Given the description of an element on the screen output the (x, y) to click on. 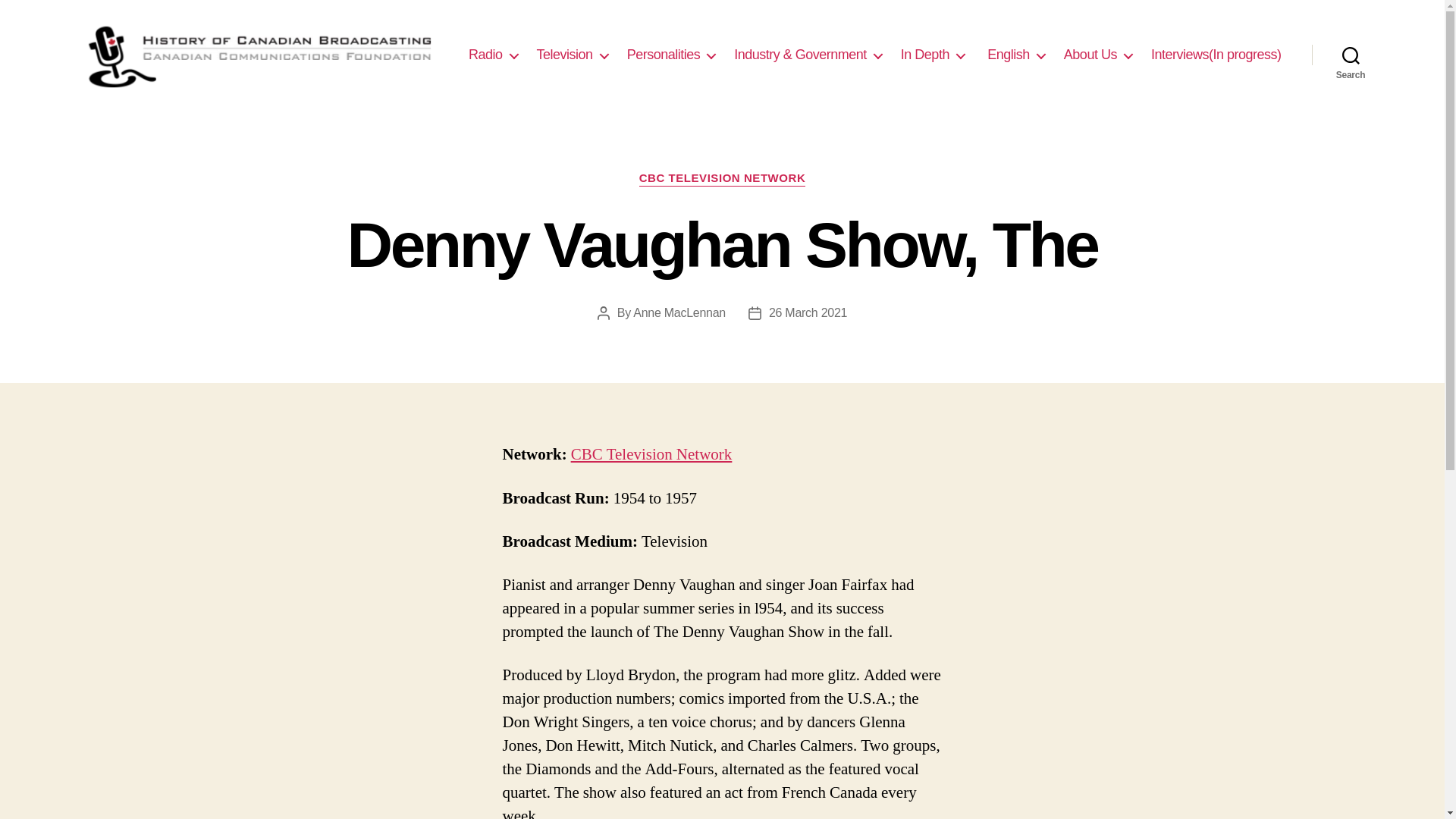
English (1014, 54)
In Depth (932, 54)
Television (572, 54)
Radio (493, 54)
About Us (1098, 54)
Personalities (671, 54)
Search (1350, 55)
